Given the description of an element on the screen output the (x, y) to click on. 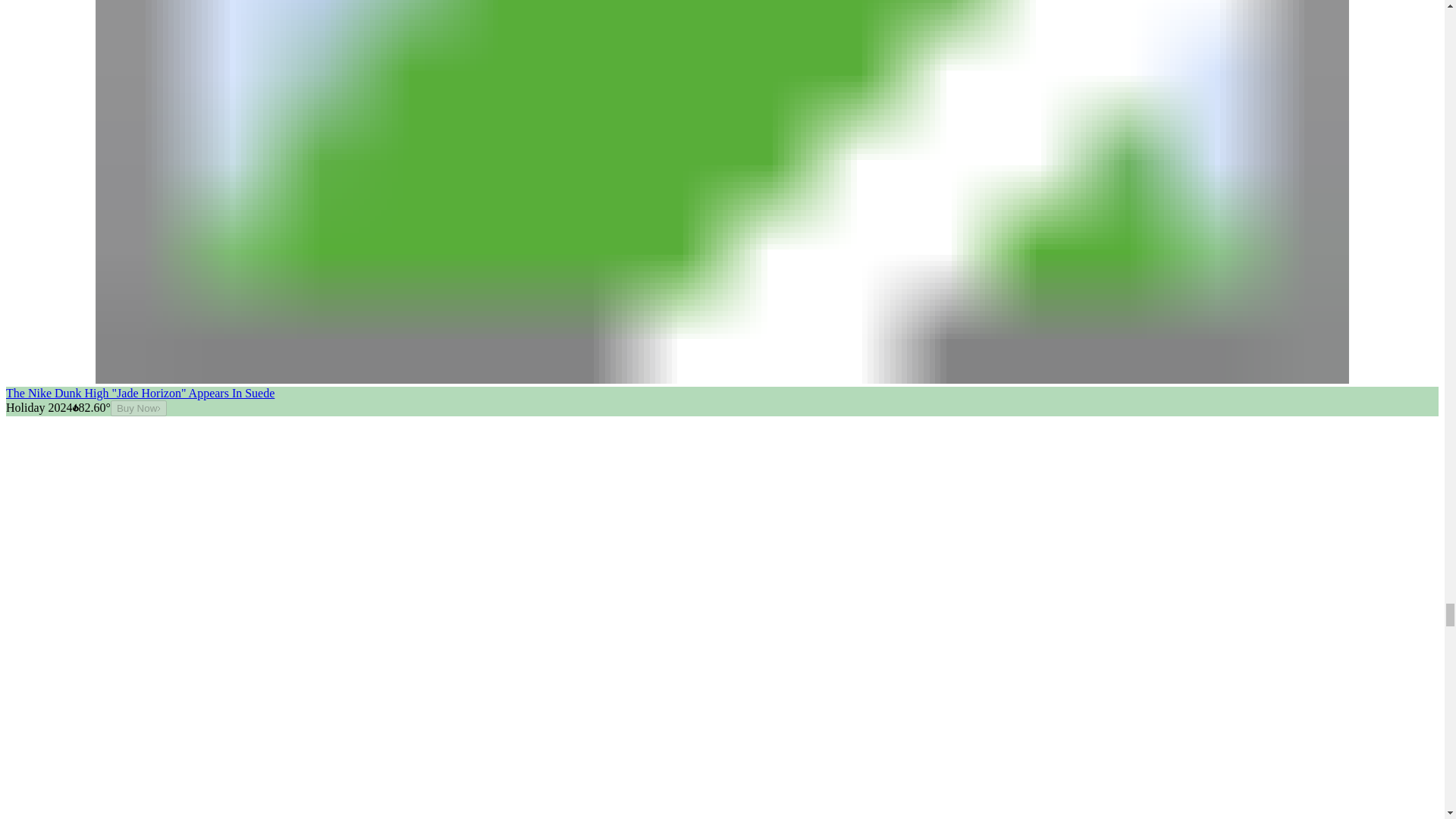
The Nike Dunk High "Jade Horizon" Appears In Suede (140, 392)
Buy Now (138, 408)
